Given the description of an element on the screen output the (x, y) to click on. 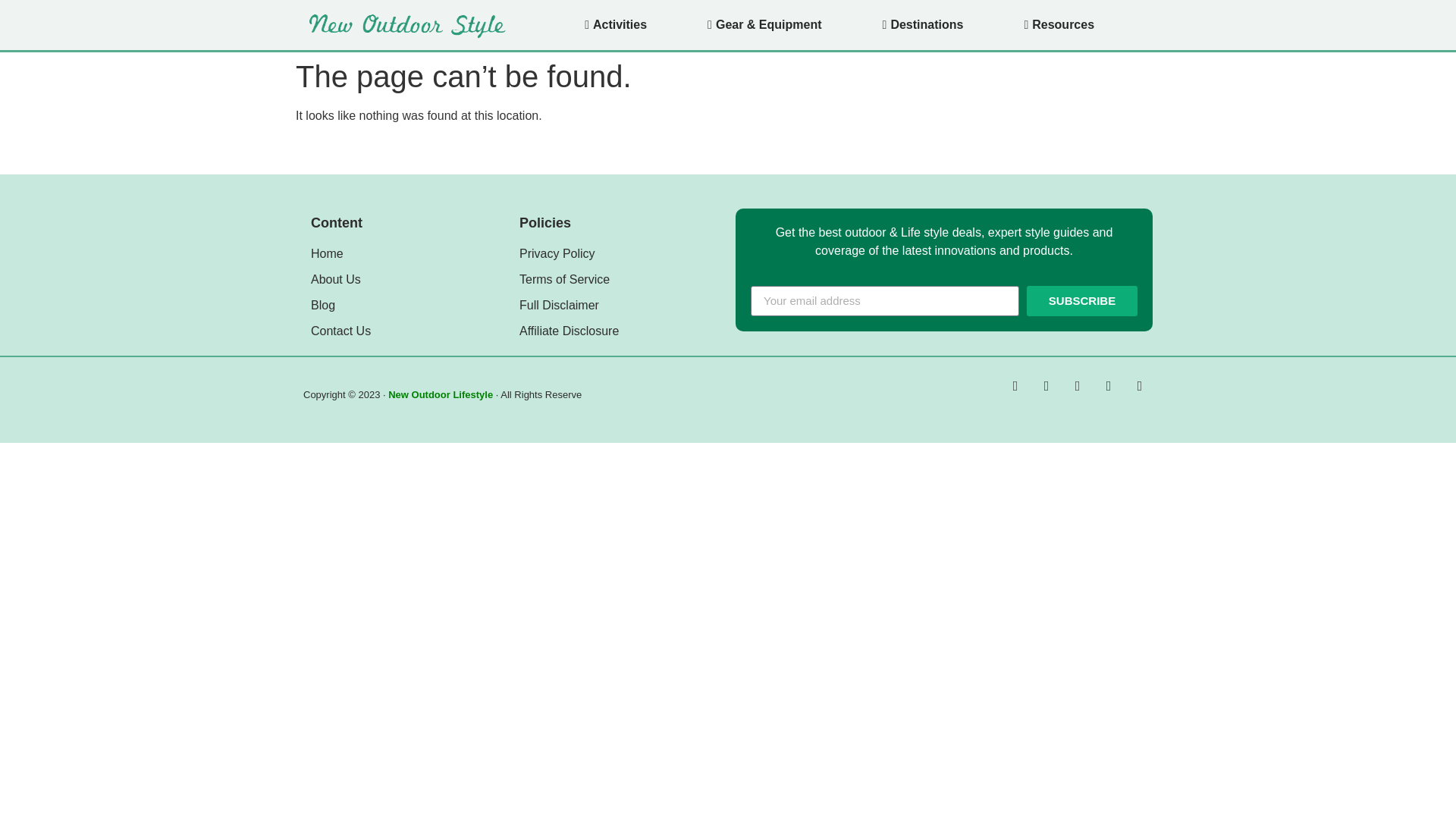
Destinations (923, 24)
Activities (614, 24)
SUBSCRIBE (1081, 300)
New Outdoor Lifestyle (440, 394)
About Us (407, 280)
Contact Us (407, 331)
Resources (1059, 24)
